Given the description of an element on the screen output the (x, y) to click on. 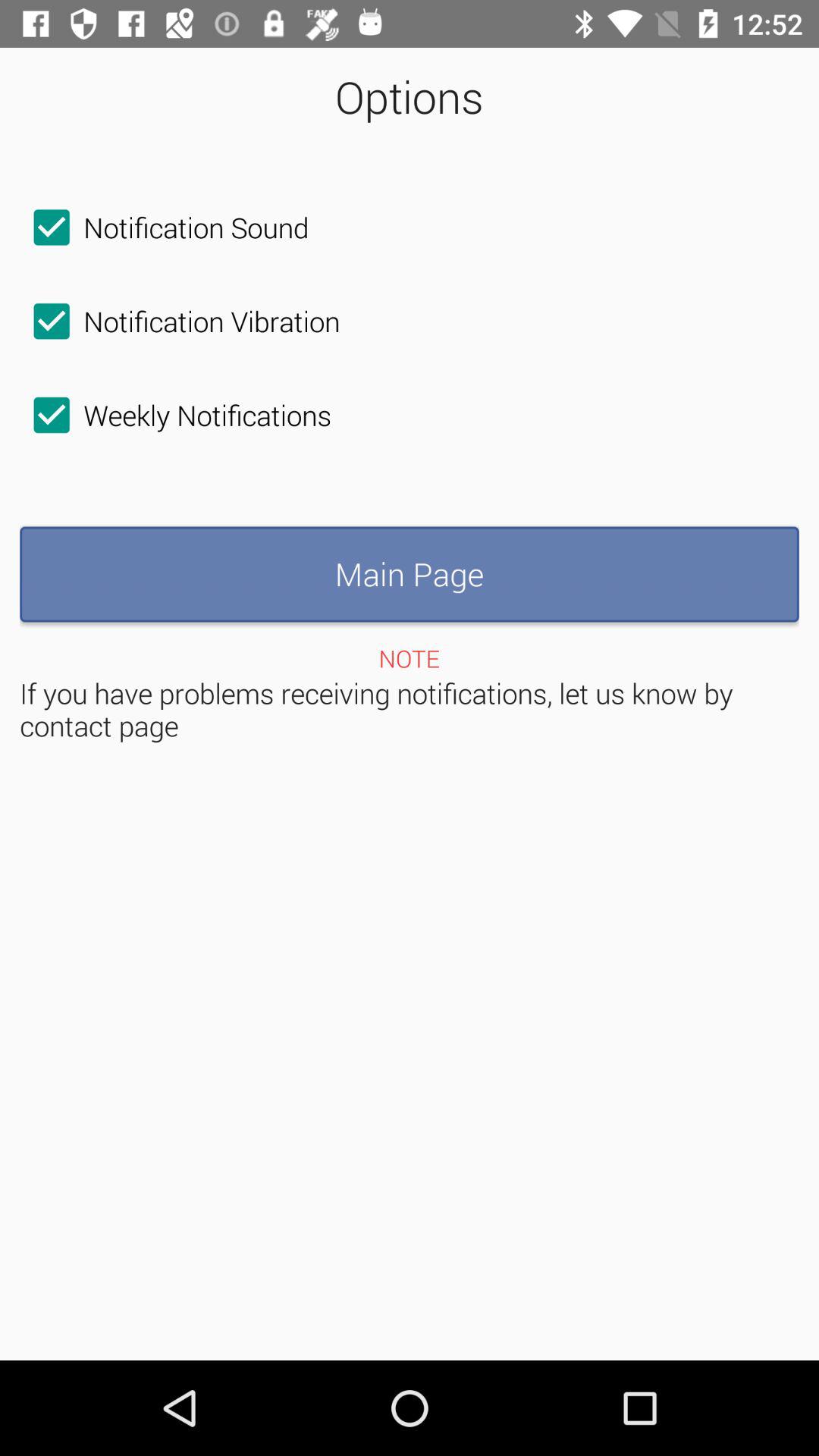
flip to notification sound (163, 227)
